Given the description of an element on the screen output the (x, y) to click on. 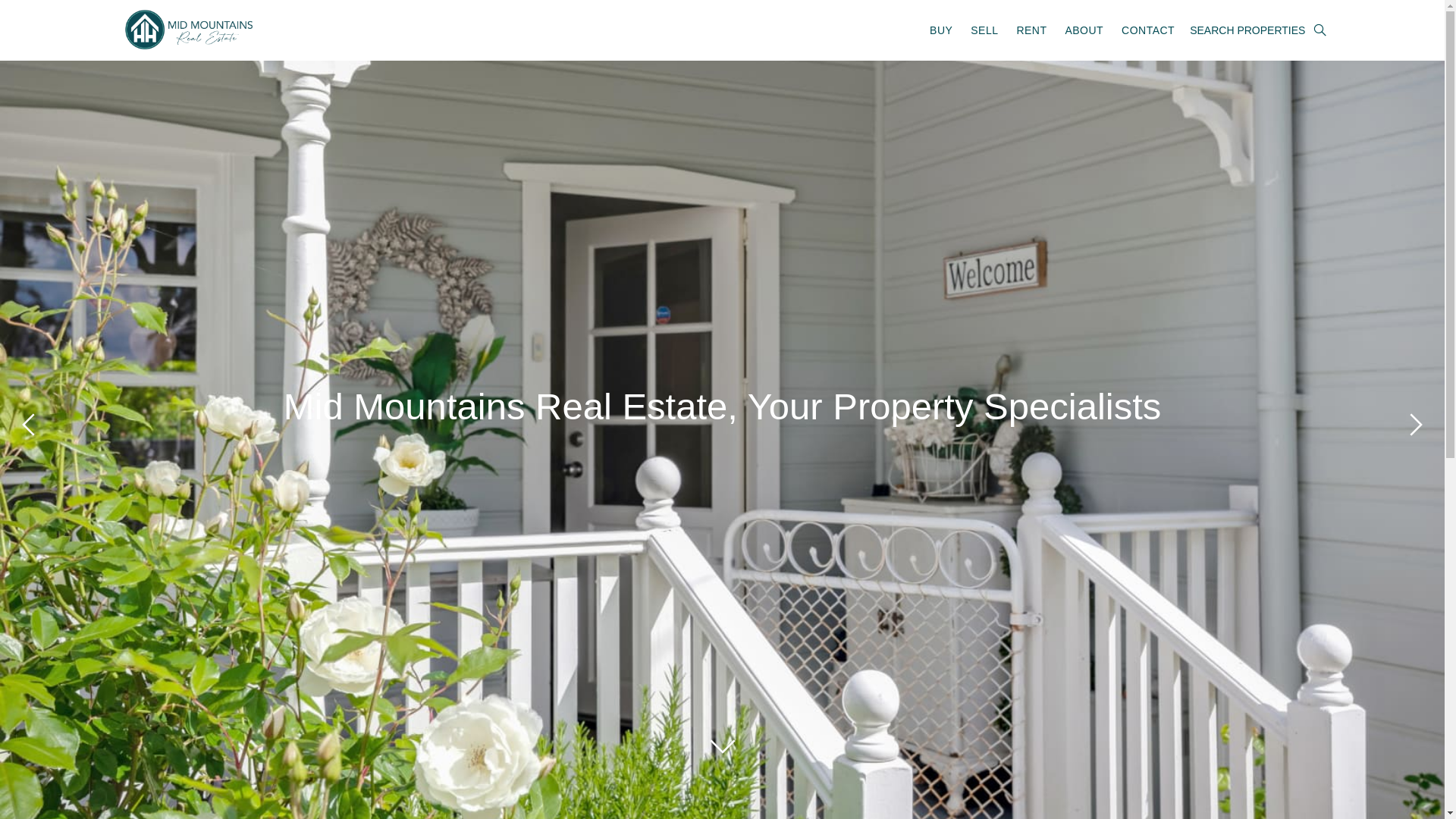
ABOUT Element type: text (1083, 30)
SEARCH PROPERTIES Element type: text (1254, 29)
CONTACT Element type: text (1147, 30)
SELL Element type: text (984, 30)
BUY Element type: text (941, 30)
RENT Element type: text (1031, 30)
